Given the description of an element on the screen output the (x, y) to click on. 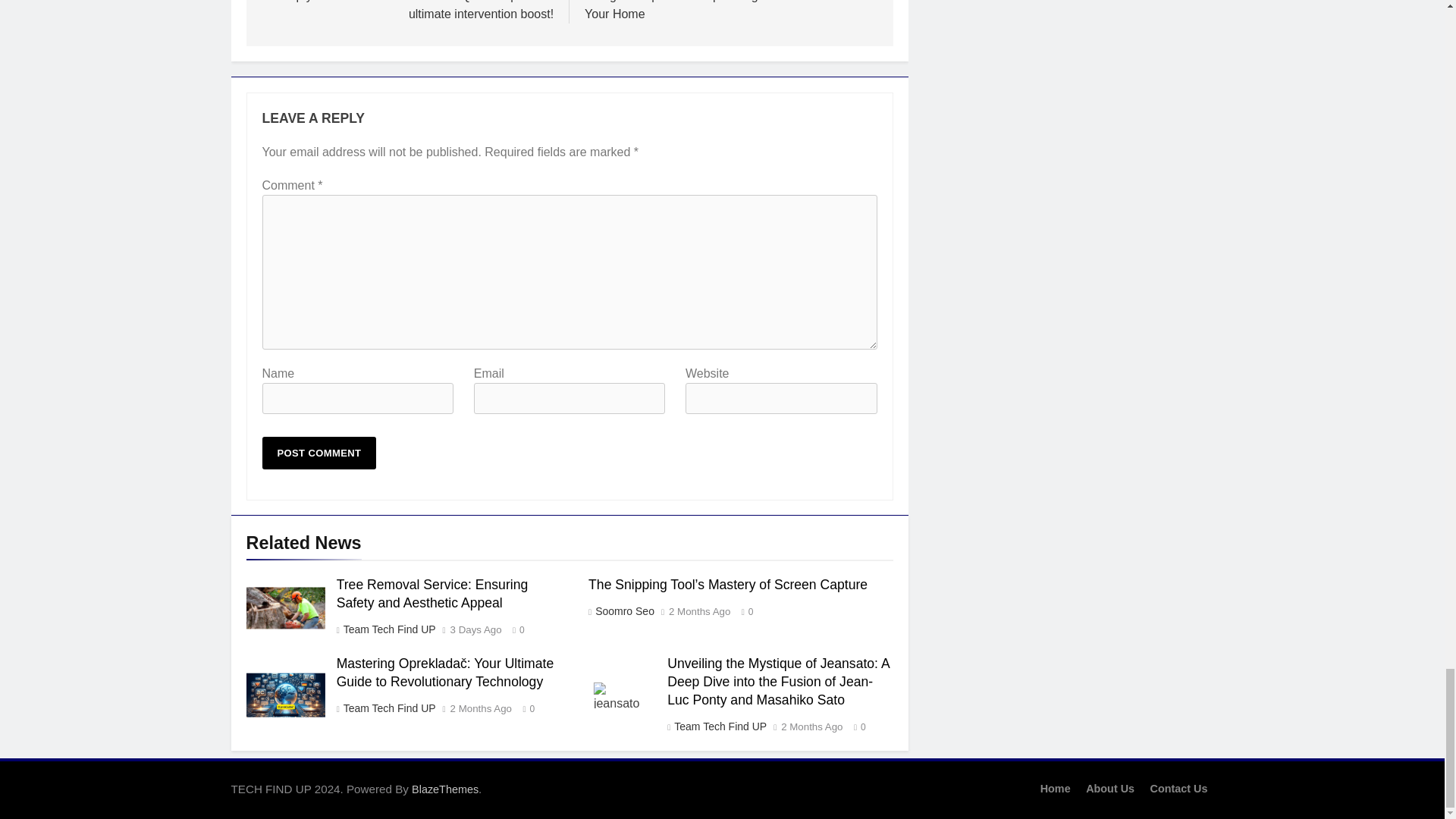
Post Comment (319, 452)
